Given the description of an element on the screen output the (x, y) to click on. 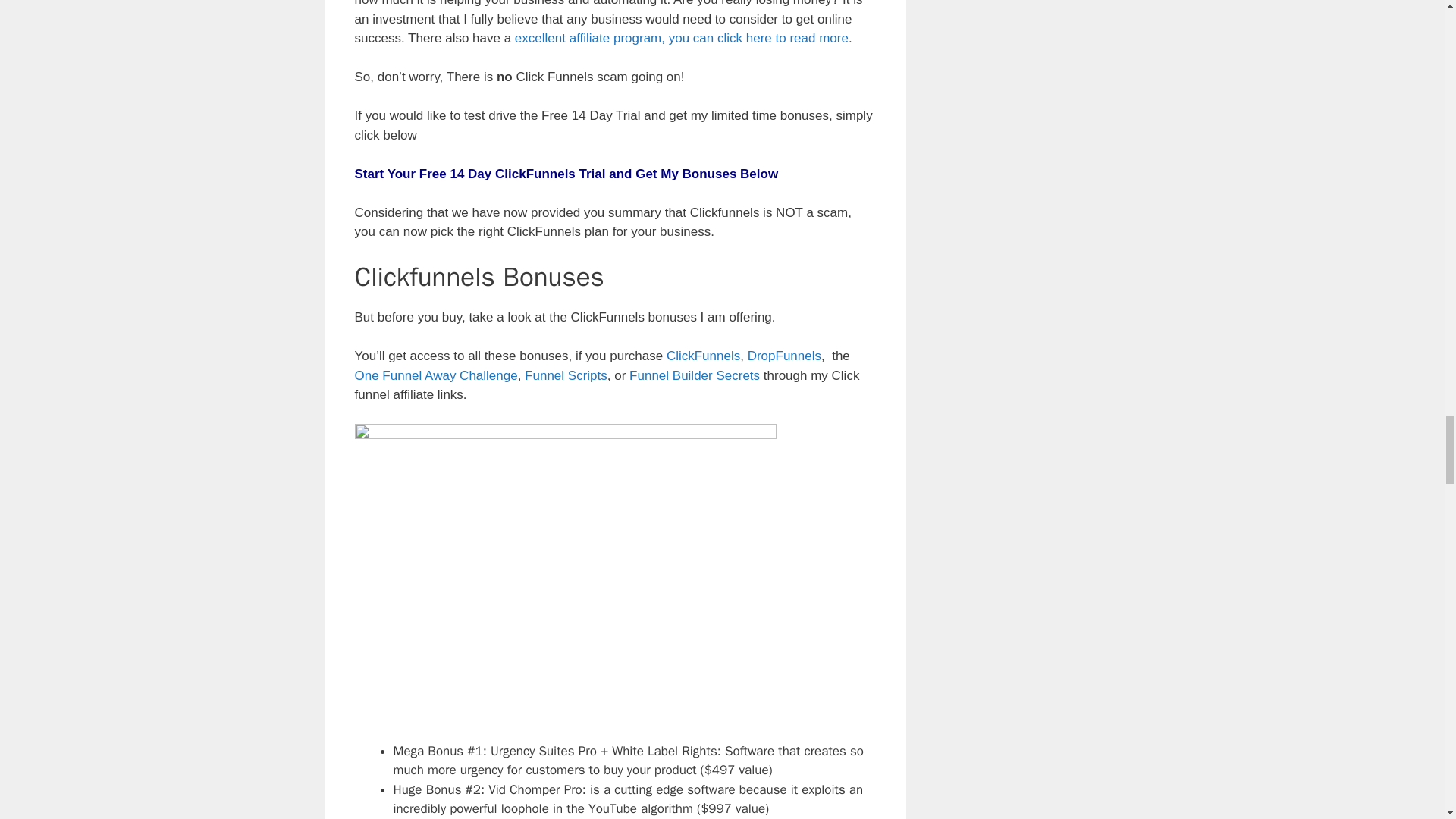
DropFunnels (784, 355)
One Funnel Away Challenge (436, 375)
Funnel Builder Secrets (694, 375)
ClickFunnels (702, 355)
excellent affiliate program, you can click here to read more (681, 38)
Funnel Scripts (565, 375)
